Given the description of an element on the screen output the (x, y) to click on. 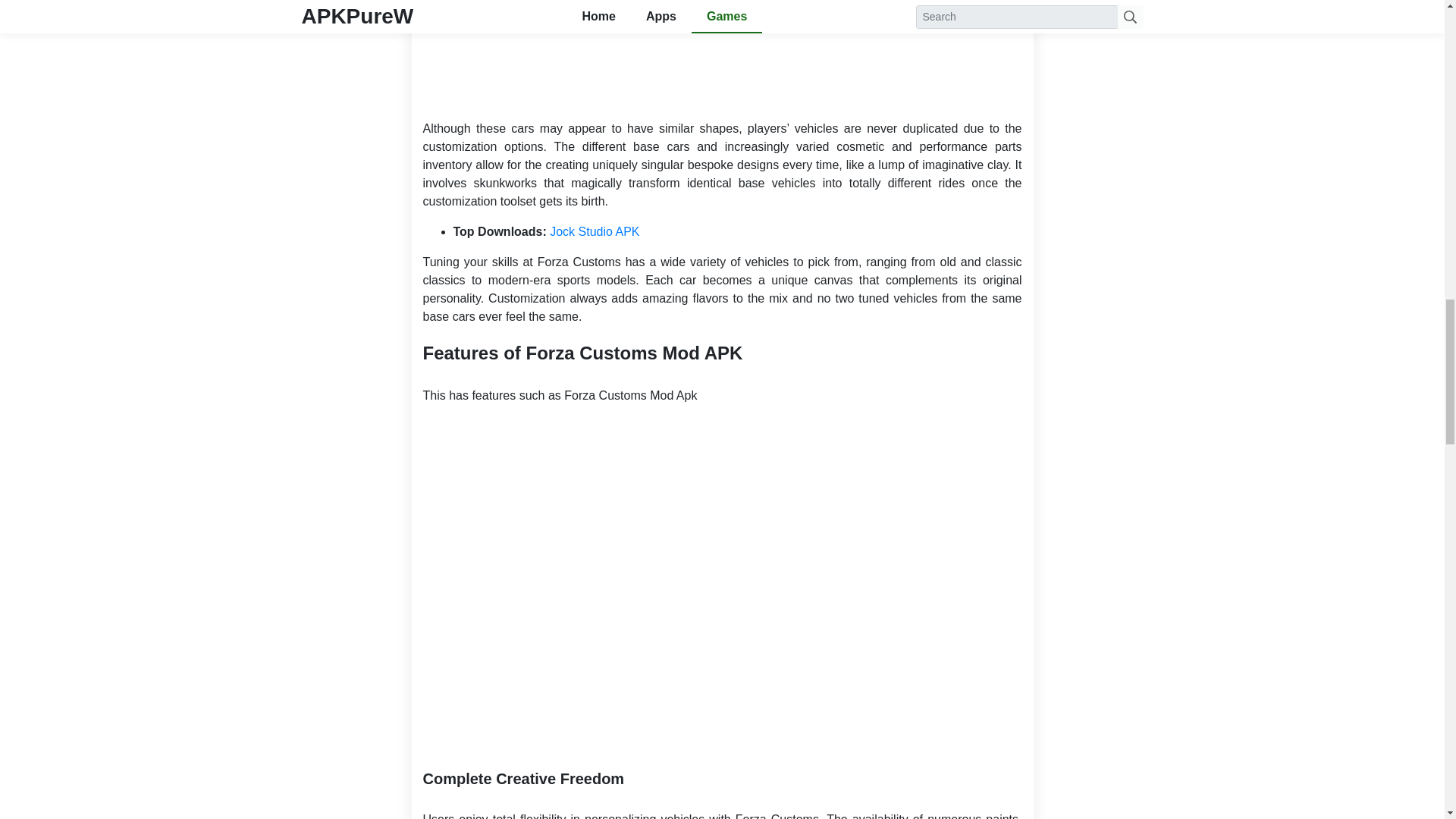
Jock Studio APK (594, 231)
